Given the description of an element on the screen output the (x, y) to click on. 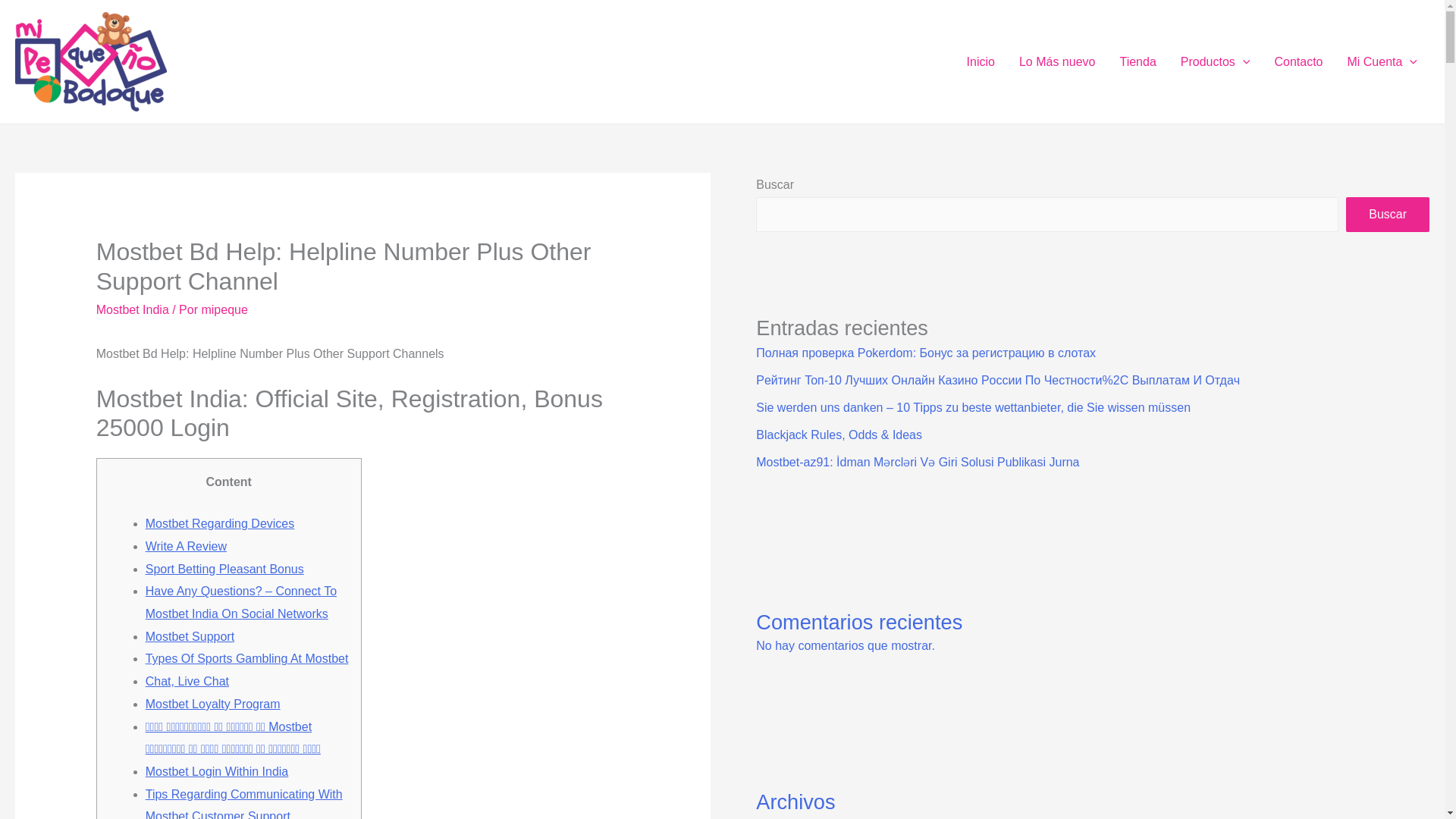
Inicio (981, 61)
Ver todas las entradas de mipeque (223, 309)
Productos (1215, 61)
Tienda (1136, 61)
